Given the description of an element on the screen output the (x, y) to click on. 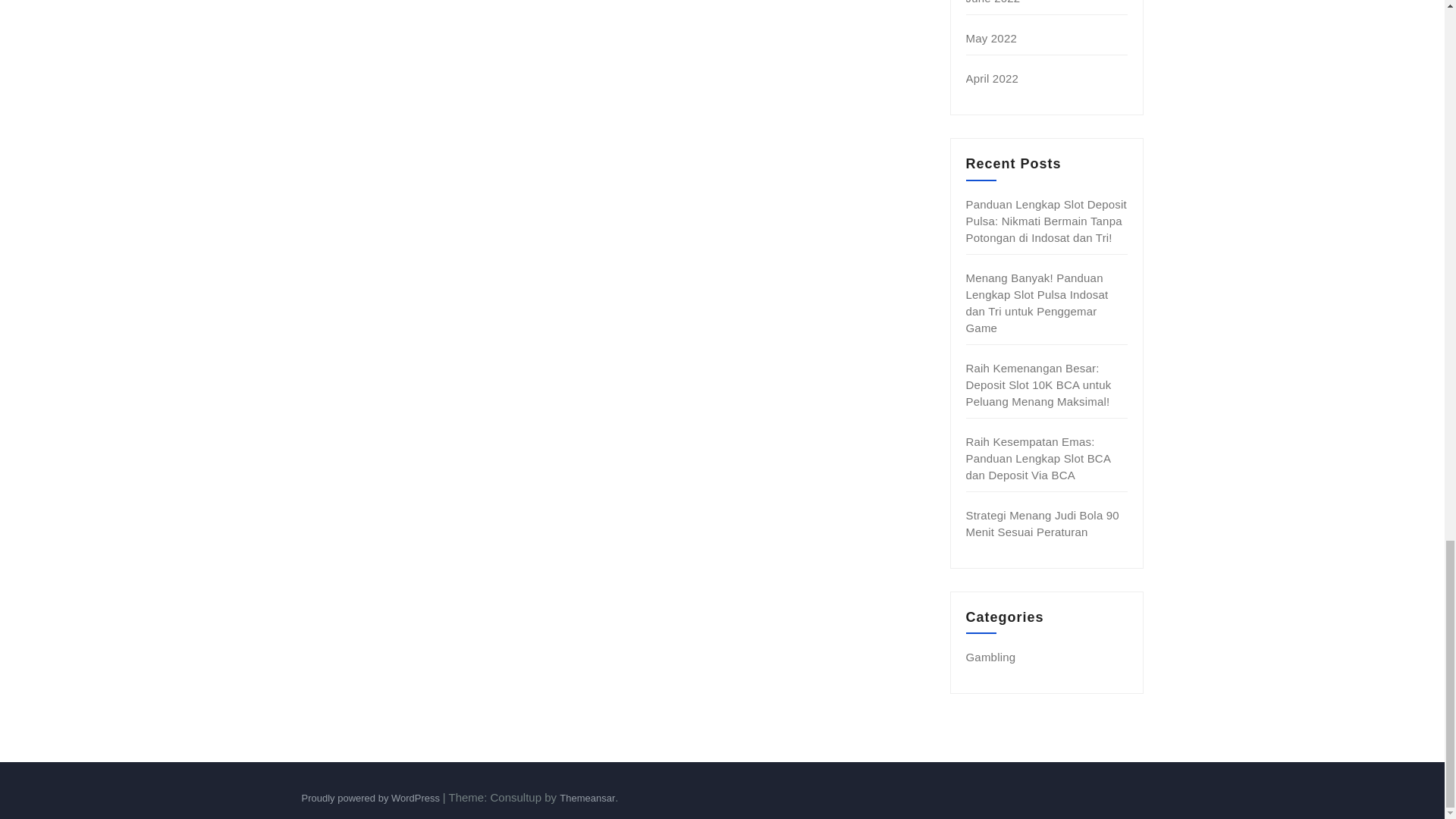
May 2022 (991, 38)
June 2022 (993, 2)
April 2022 (992, 78)
